Given the description of an element on the screen output the (x, y) to click on. 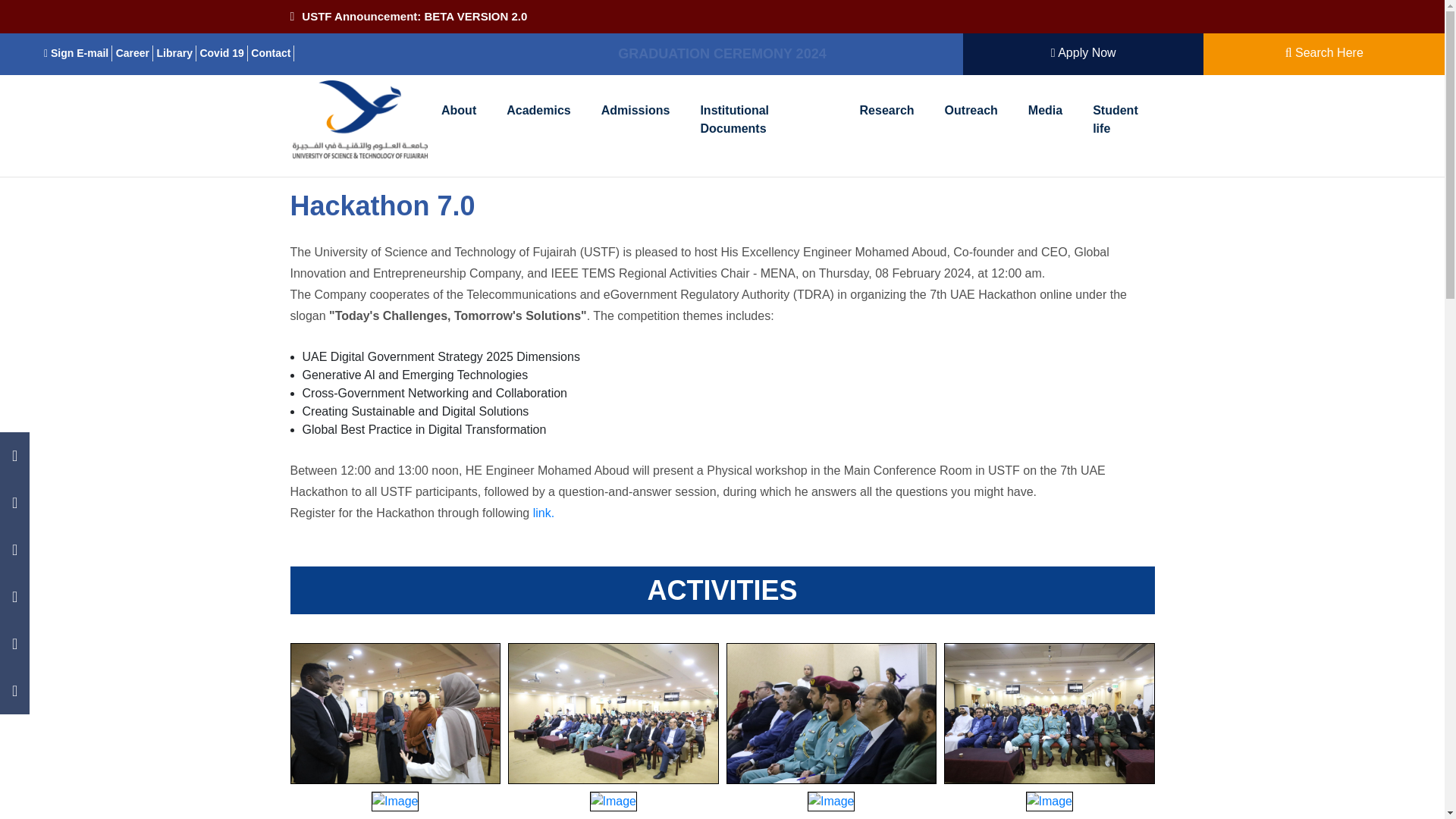
Admissions (635, 110)
Academics (538, 110)
Library (176, 53)
Contact (272, 53)
Sign E-mail (77, 53)
GRADUATION CEREMONY 2024 (721, 54)
Covid 19 (223, 53)
Apply Now (1083, 53)
Institutional Documents (764, 119)
Search Here (1323, 53)
